Given the description of an element on the screen output the (x, y) to click on. 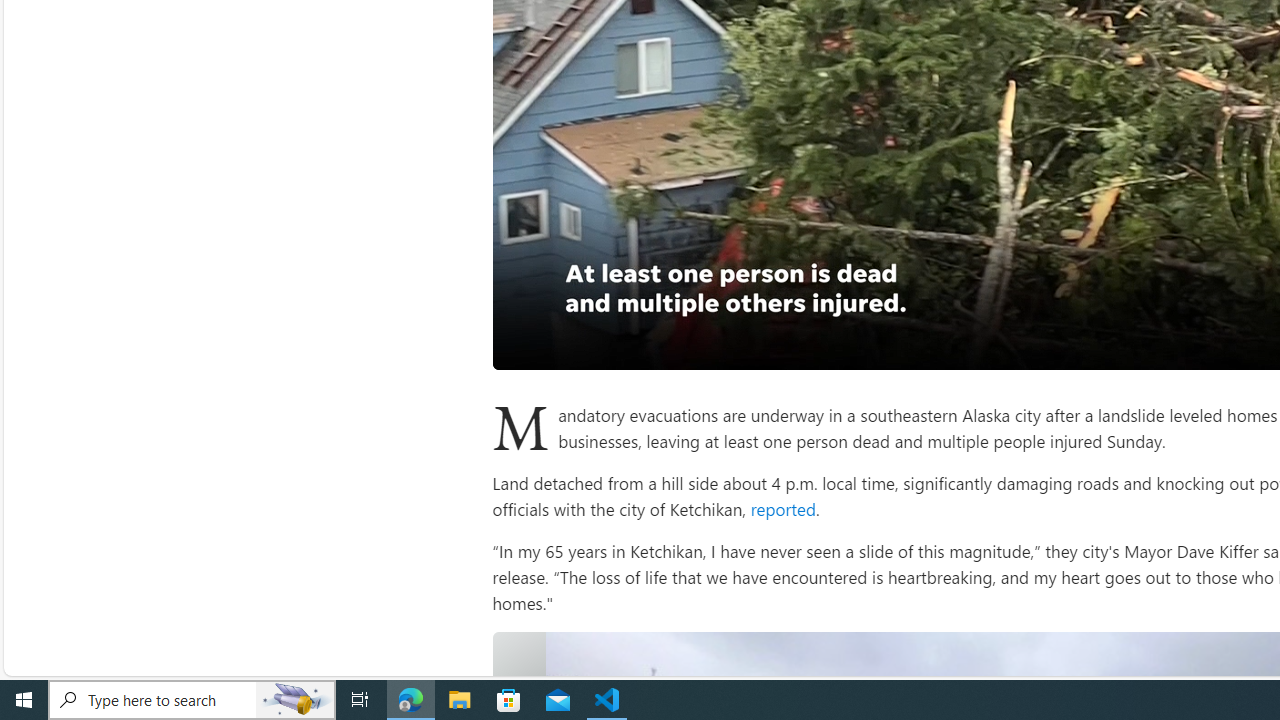
Captions (1257, 347)
Seek Back (561, 347)
 reported (781, 507)
Pause (521, 347)
Quality Settings (1218, 347)
Seek Forward (602, 347)
